Given the description of an element on the screen output the (x, y) to click on. 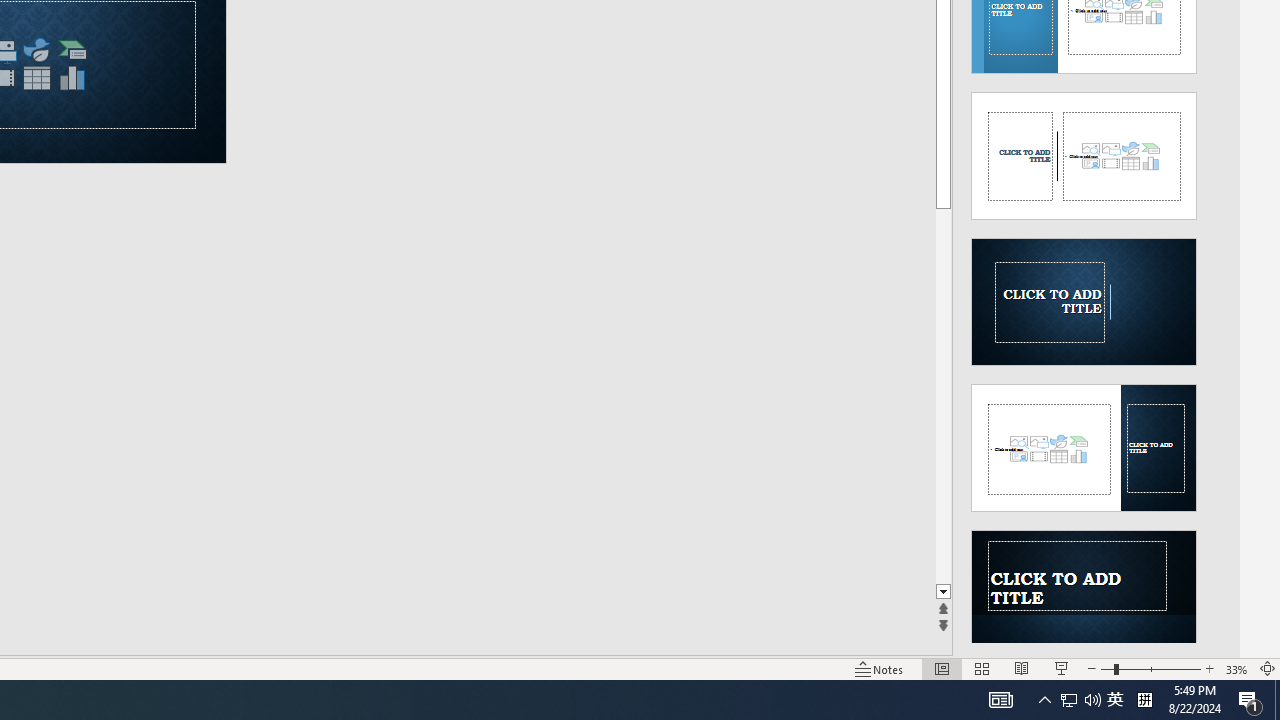
Zoom 33% (1236, 668)
Insert Chart (73, 78)
Insert an Icon (36, 50)
Insert Table (36, 78)
Insert a SmartArt Graphic (73, 50)
